Given the description of an element on the screen output the (x, y) to click on. 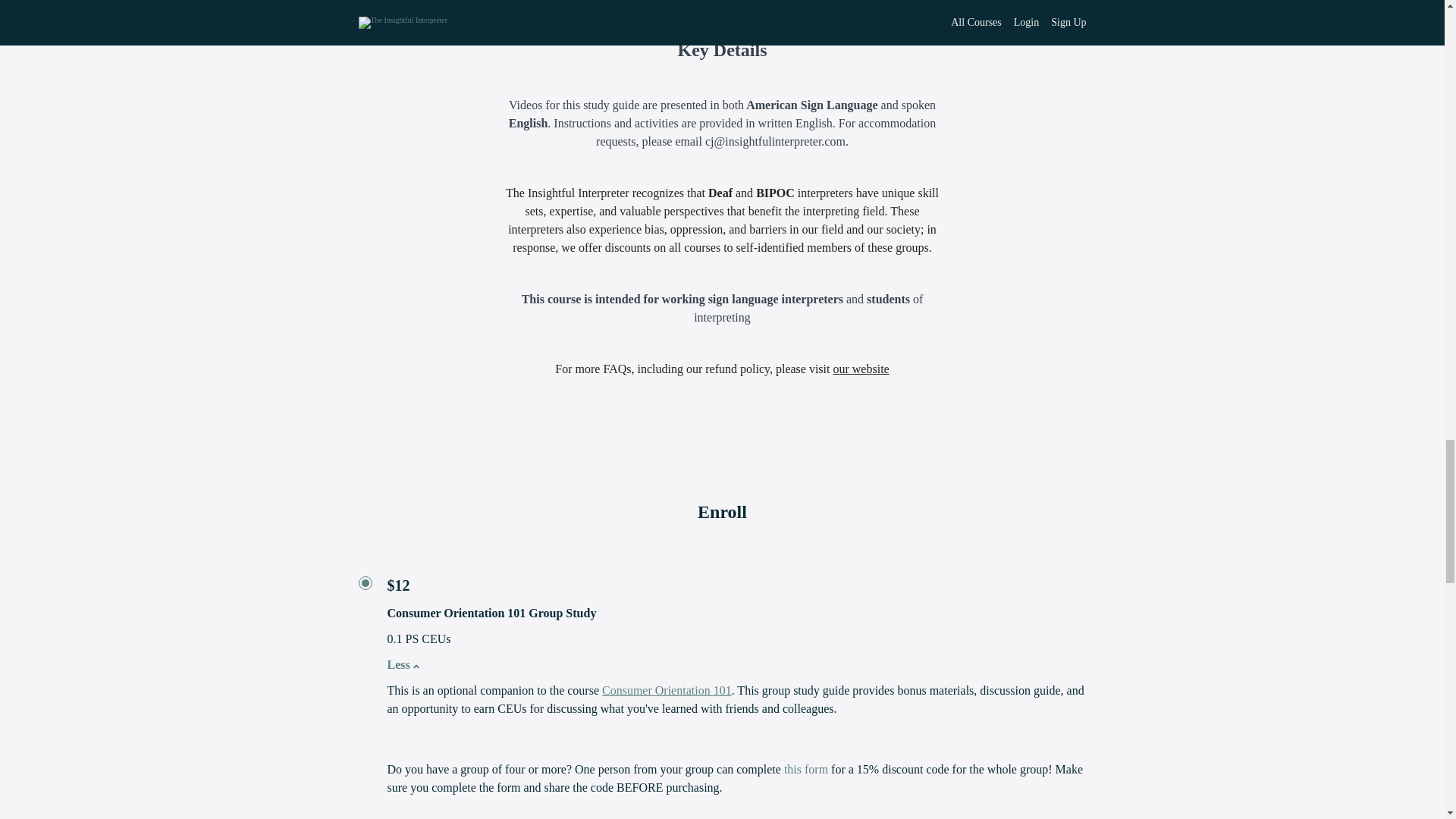
this form (806, 768)
Less (399, 665)
Consumer Orientation 101 (667, 689)
